Given the description of an element on the screen output the (x, y) to click on. 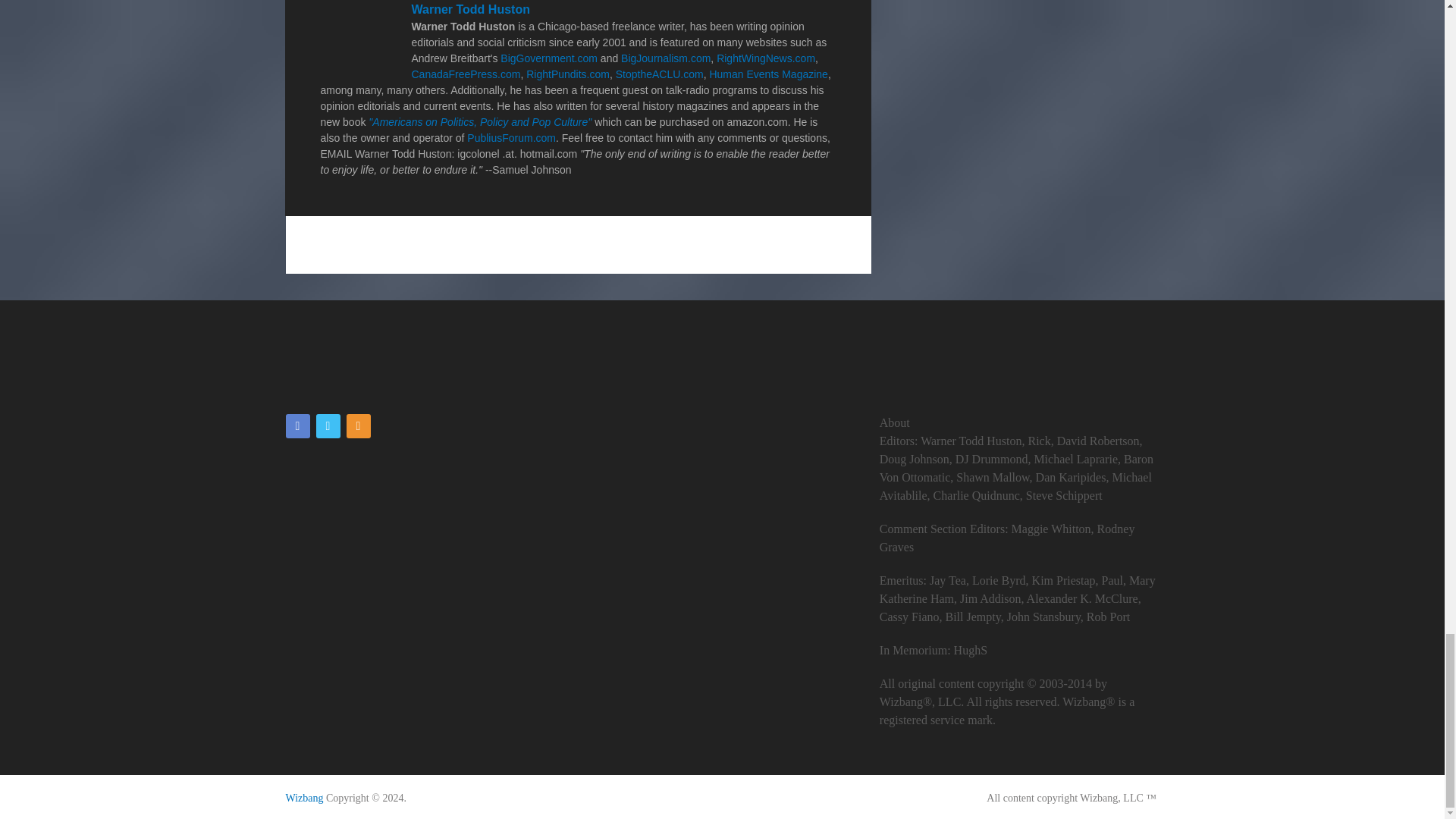
"Americans on Politics, Policy and Pop Culture" (479, 121)
Warner Todd Huston (469, 9)
RightPundits.com (567, 73)
BigJournalism.com (665, 58)
BigGovernment.com (548, 58)
StoptheACLU.com (659, 73)
RightWingNews.com (765, 58)
CanadaFreePress.com (464, 73)
Human Events Magazine (768, 73)
